Given the description of an element on the screen output the (x, y) to click on. 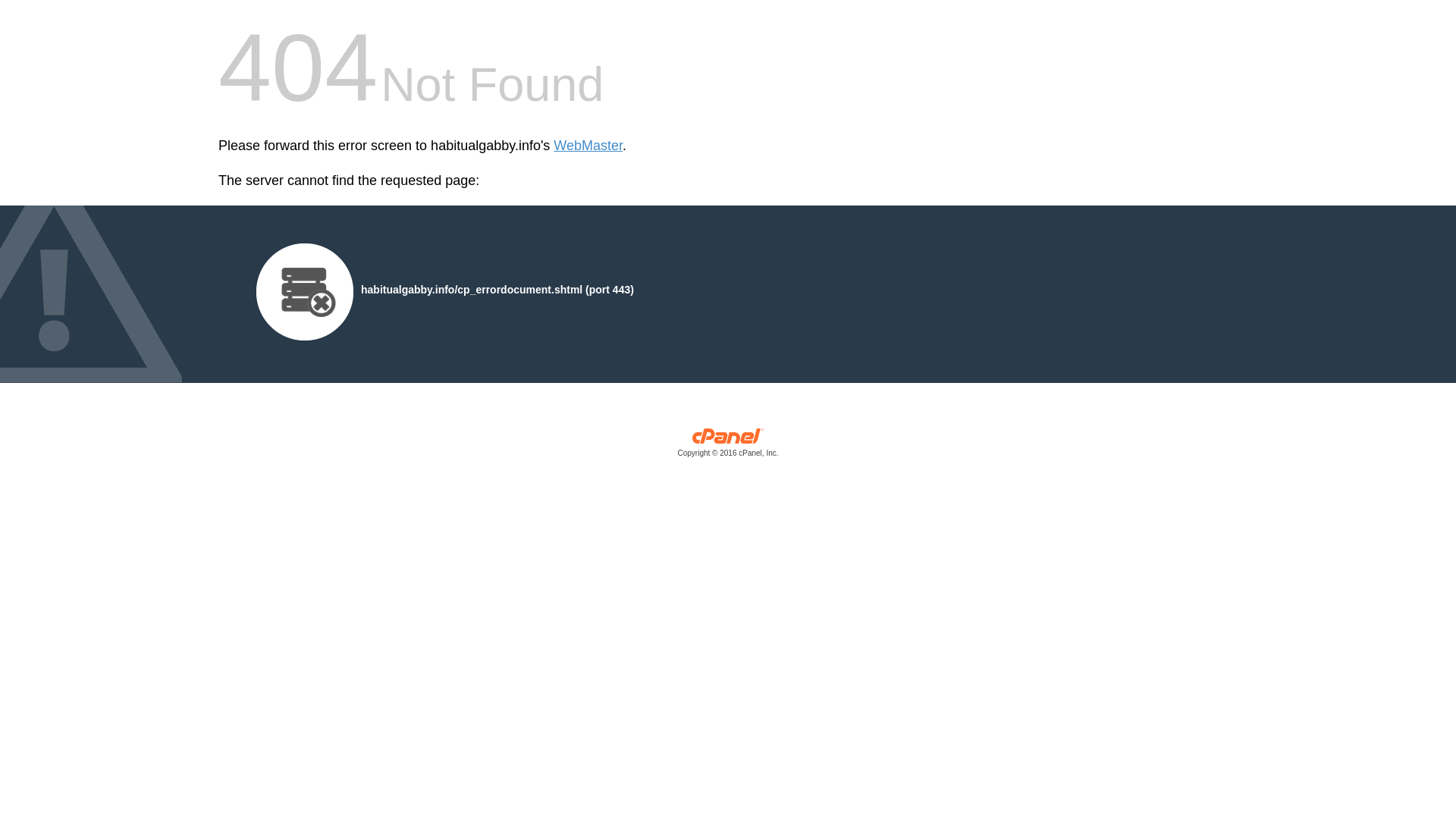
WebMaster (588, 145)
cPanel, Inc. (727, 446)
